Given the description of an element on the screen output the (x, y) to click on. 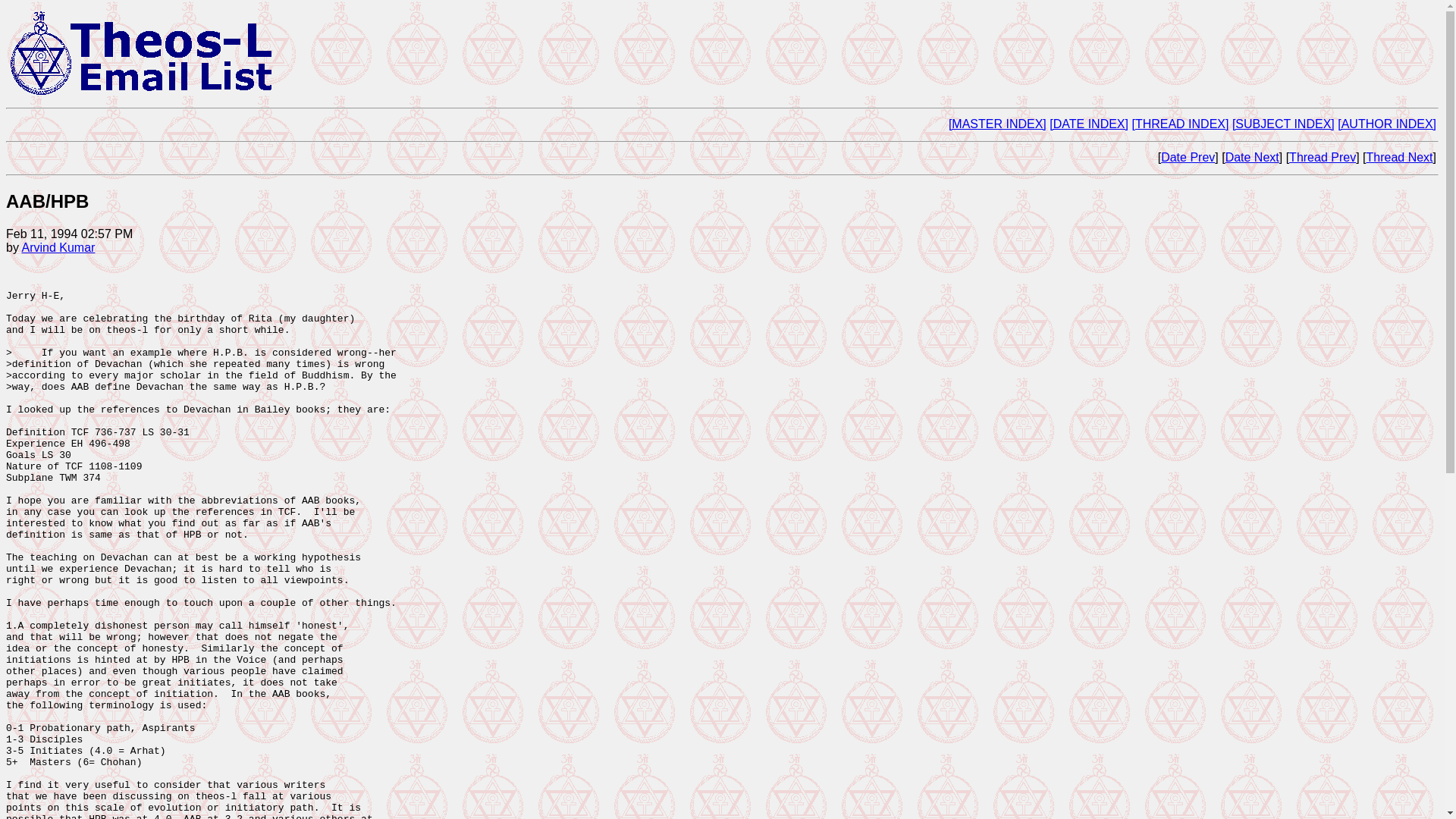
Thread Next (1399, 156)
Thread Prev (1321, 156)
Arvind Kumar (57, 246)
Date Next (1252, 156)
Date Prev (1187, 156)
